Given the description of an element on the screen output the (x, y) to click on. 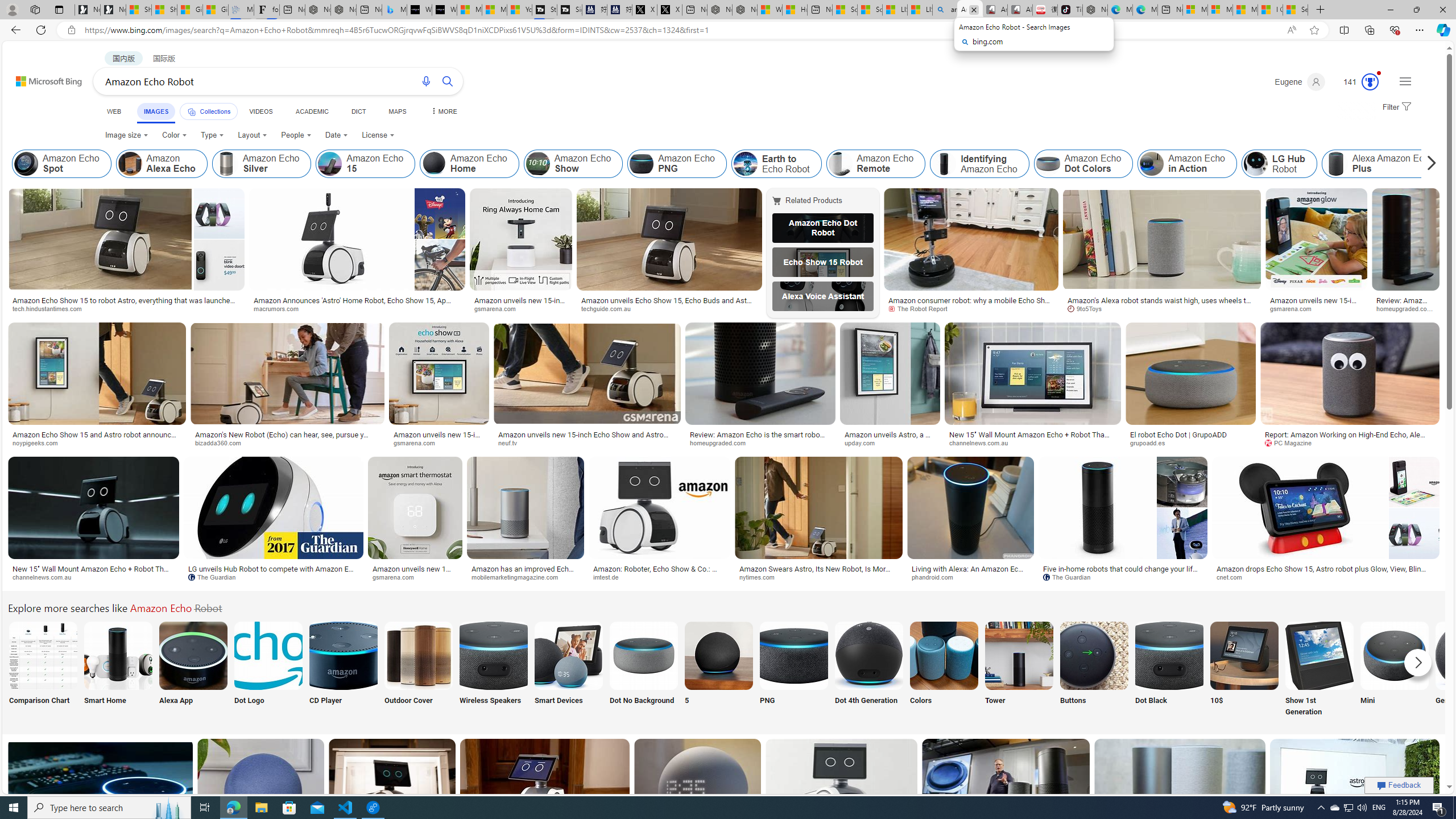
Amazon Echo PNG (676, 163)
nytimes.com (761, 576)
Layout (253, 135)
Filter (1395, 107)
Amazon consumer robot: why a mobile Echo Show makes sense (970, 303)
channelnews.com.au (46, 576)
Amazon Echo Show 1st Generation Show 1st Generation (1319, 669)
The Robot Report (921, 308)
Amazon Echo with CD Player CD Player (342, 669)
